Given the description of an element on the screen output the (x, y) to click on. 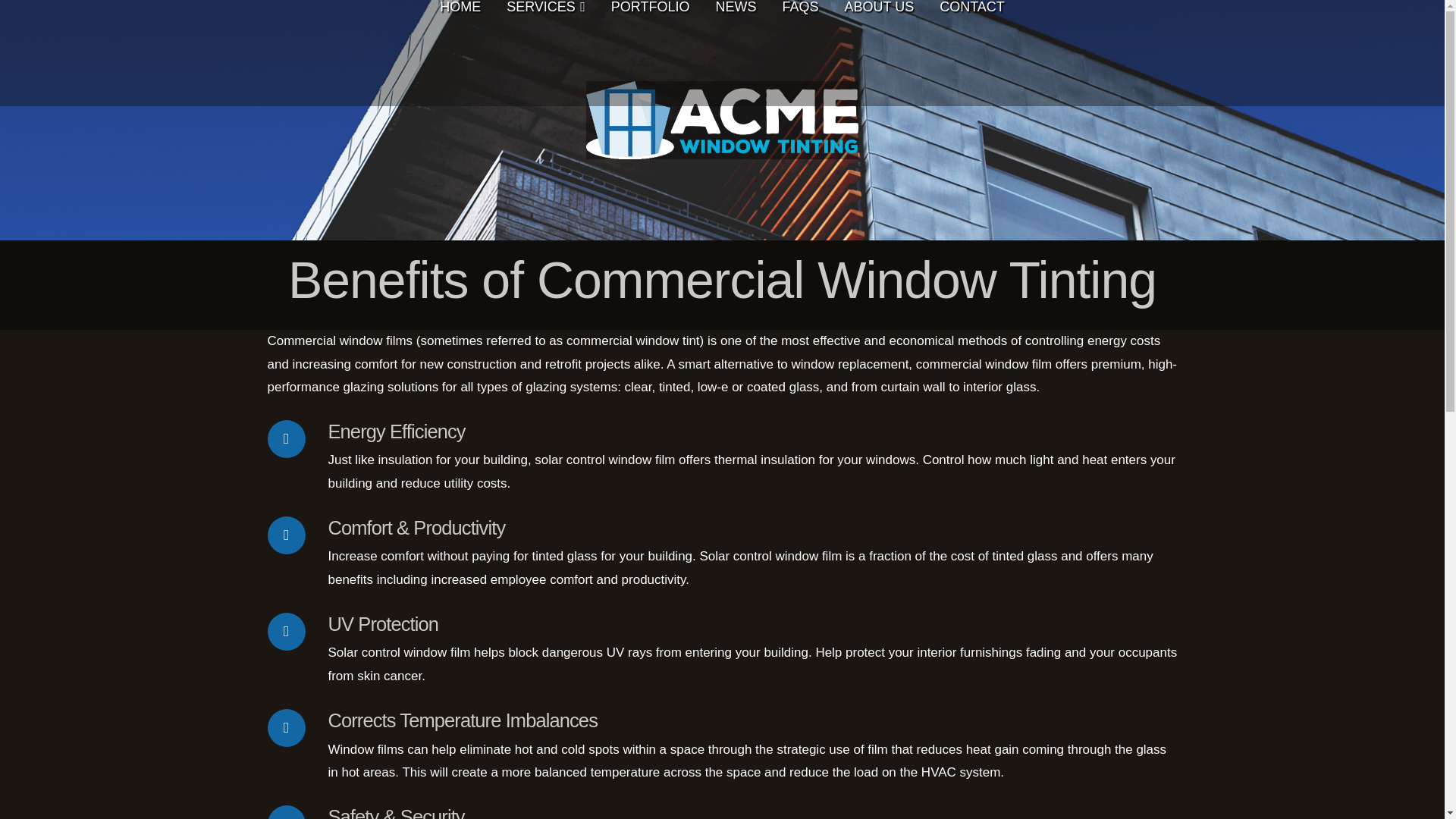
SERVICES (545, 53)
ABOUT US (878, 53)
PORTFOLIO (650, 53)
